Given the description of an element on the screen output the (x, y) to click on. 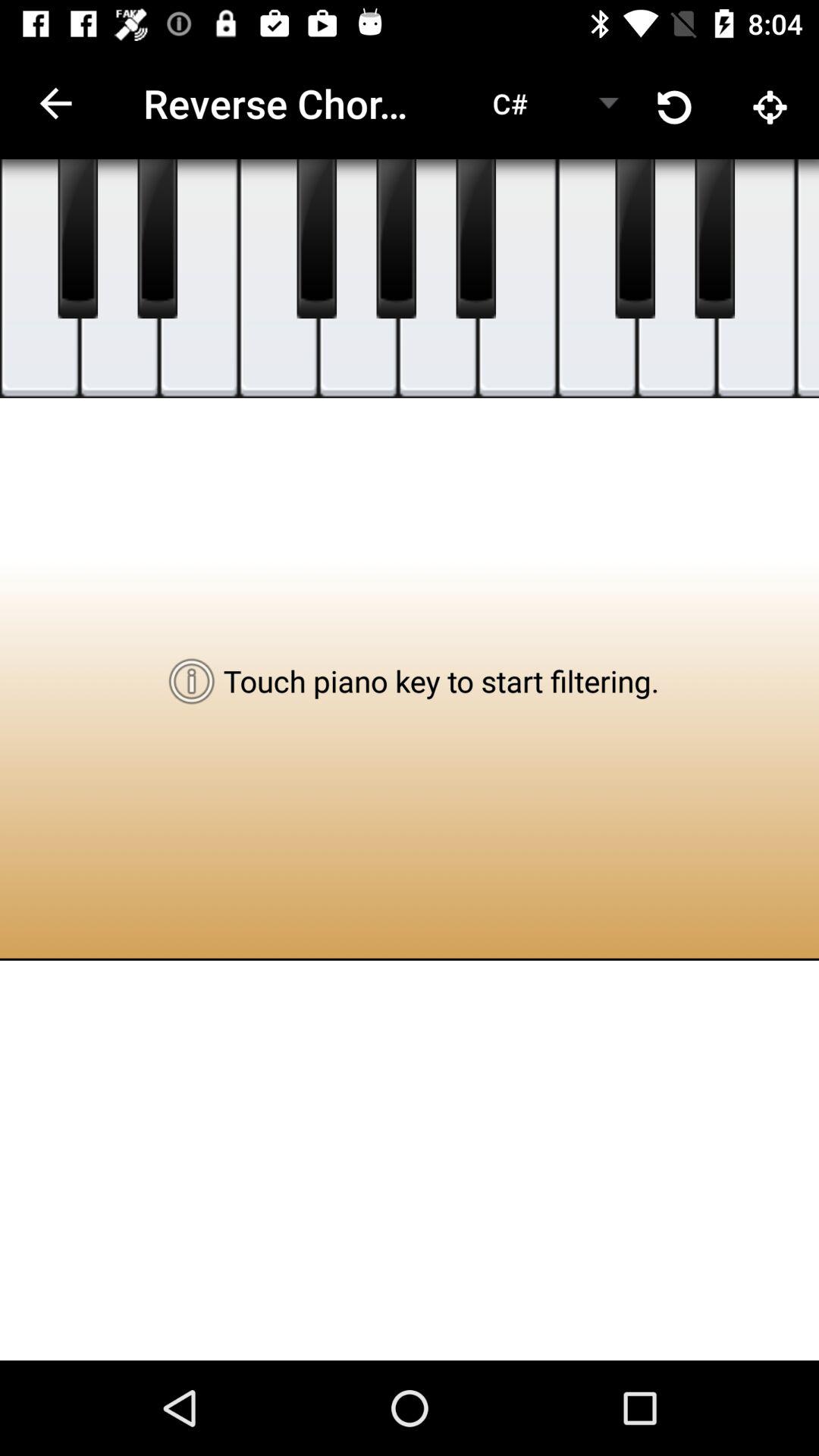
piano f key (807, 278)
